Given the description of an element on the screen output the (x, y) to click on. 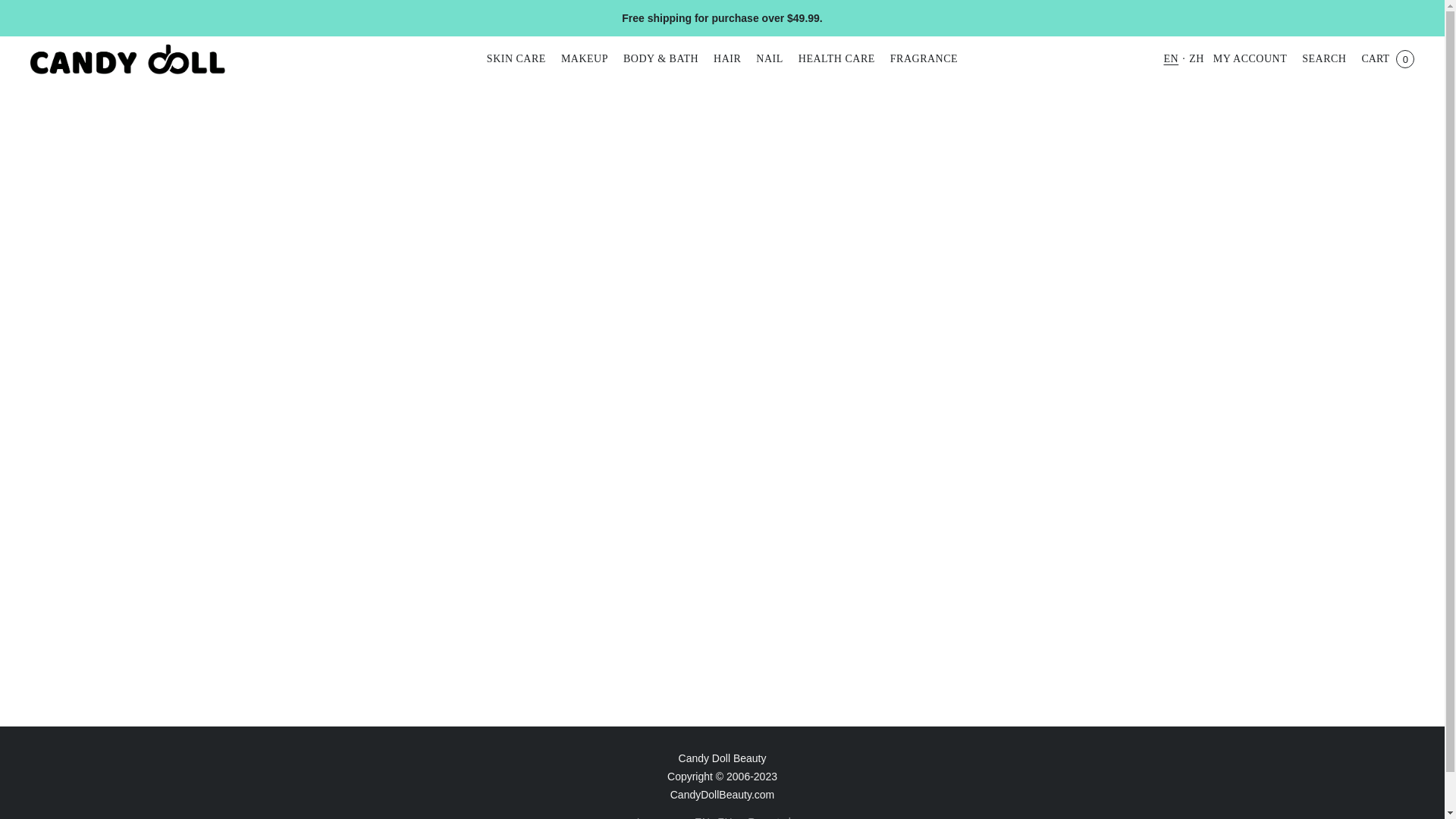
Go to your shopping cart (1387, 59)
FRAGRANCE (920, 59)
MAKEUP (584, 59)
SEARCH (1323, 59)
EN (702, 816)
HAIR (727, 59)
CART (1387, 59)
Report abuse (779, 816)
SKIN CARE (519, 59)
NAIL (769, 59)
